Given the description of an element on the screen output the (x, y) to click on. 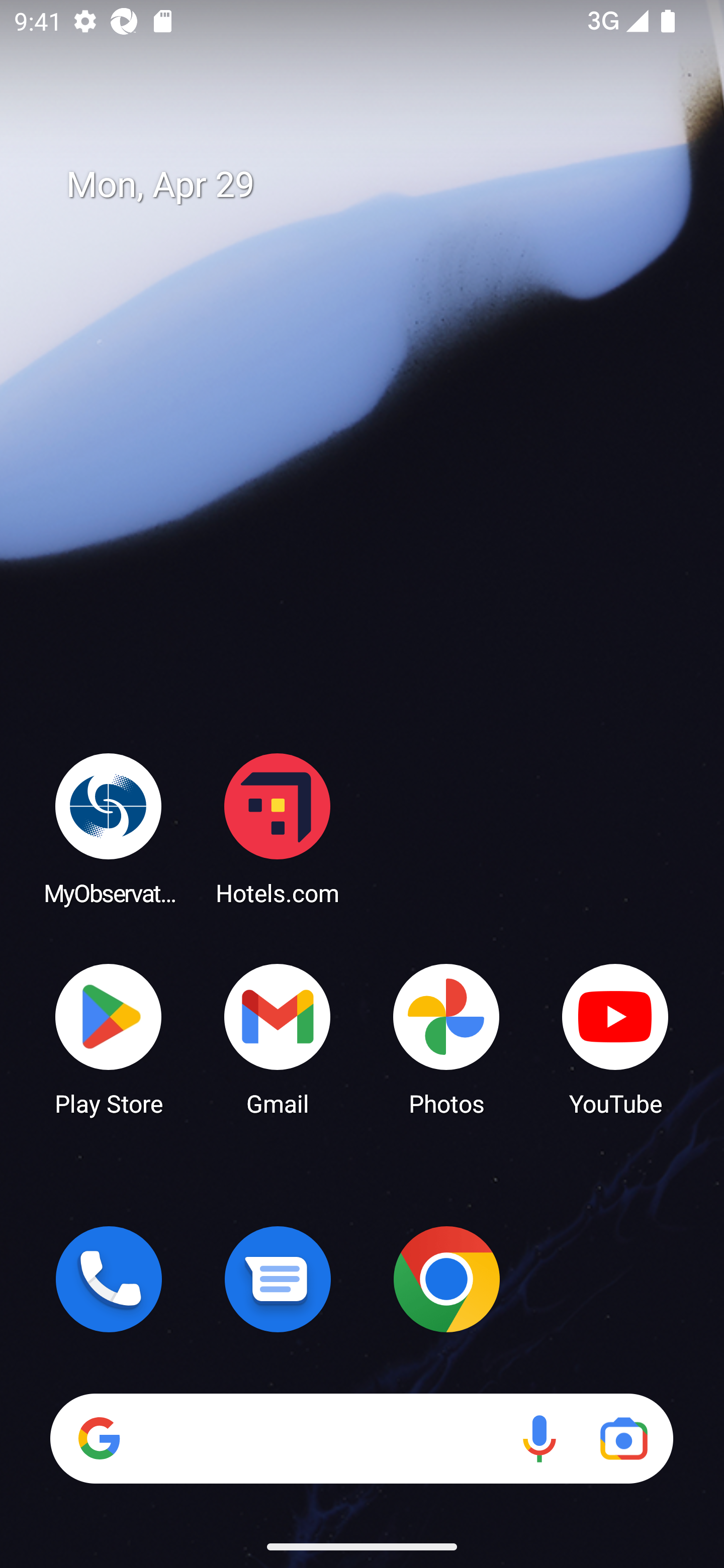
Mon, Apr 29 (375, 184)
MyObservatory (108, 828)
Hotels.com (277, 828)
Play Store (108, 1038)
Gmail (277, 1038)
Photos (445, 1038)
YouTube (615, 1038)
Phone (108, 1279)
Messages (277, 1279)
Chrome (446, 1279)
Search Voice search Google Lens (361, 1438)
Voice search (539, 1438)
Google Lens (623, 1438)
